Given the description of an element on the screen output the (x, y) to click on. 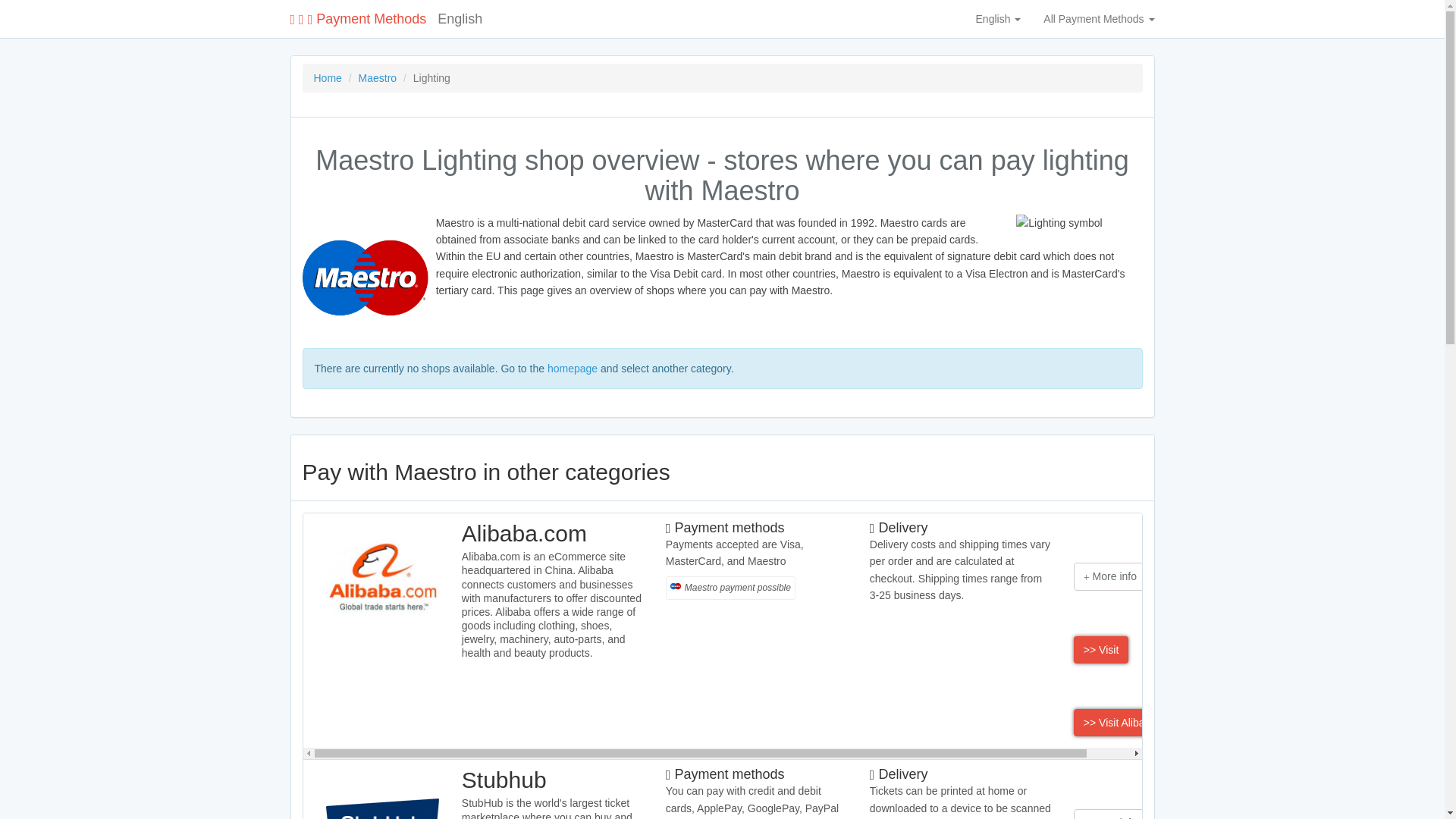
Home (328, 78)
homepage (571, 368)
All Payment Methods (1099, 18)
English (997, 18)
Payment Methods (358, 18)
Maestro (377, 78)
